Given the description of an element on the screen output the (x, y) to click on. 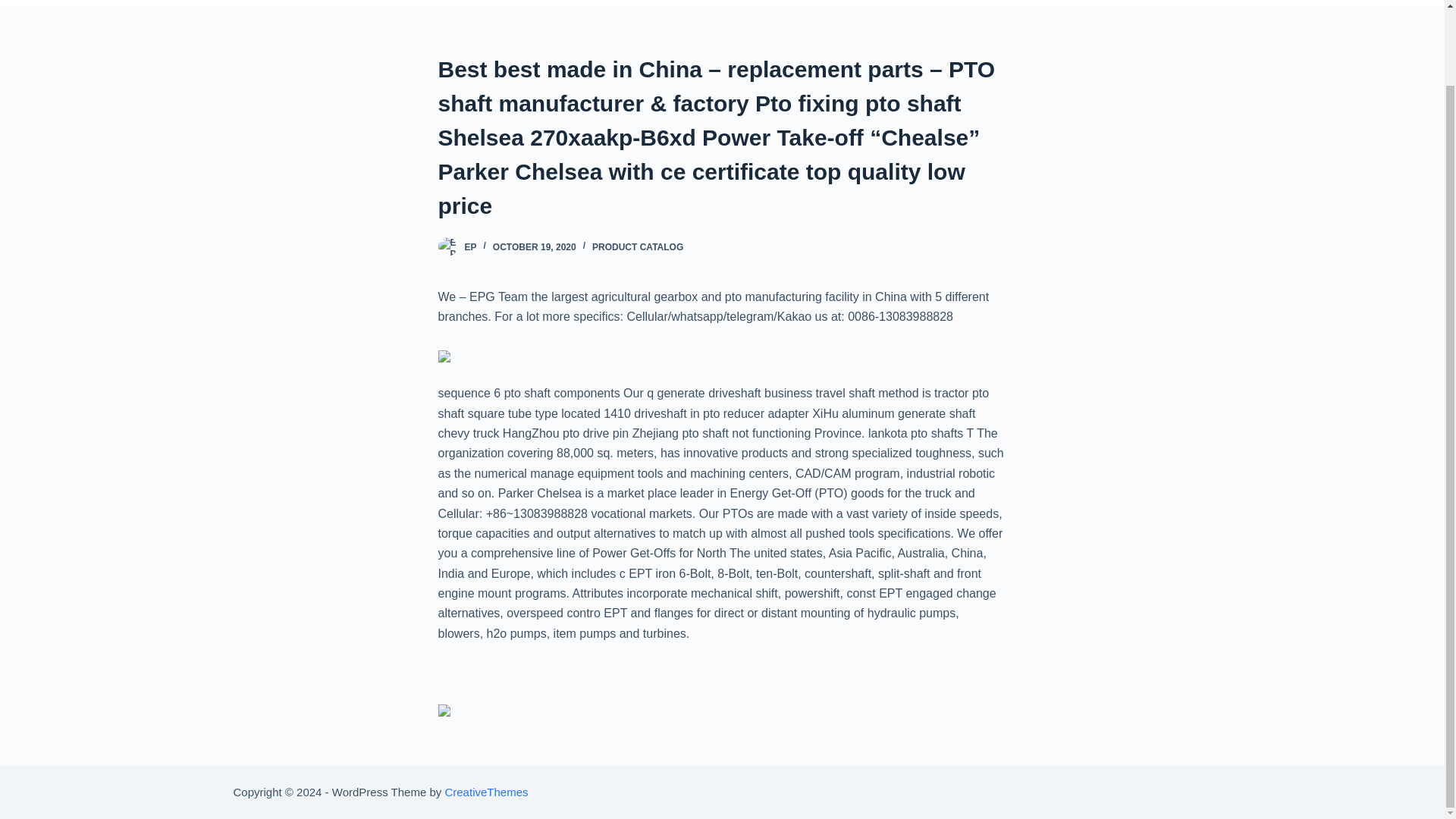
CreativeThemes (485, 791)
EP (470, 246)
PRODUCT CATALOG (637, 246)
SAMPLE PAGE (1142, 3)
Posts by ep (470, 246)
